Given the description of an element on the screen output the (x, y) to click on. 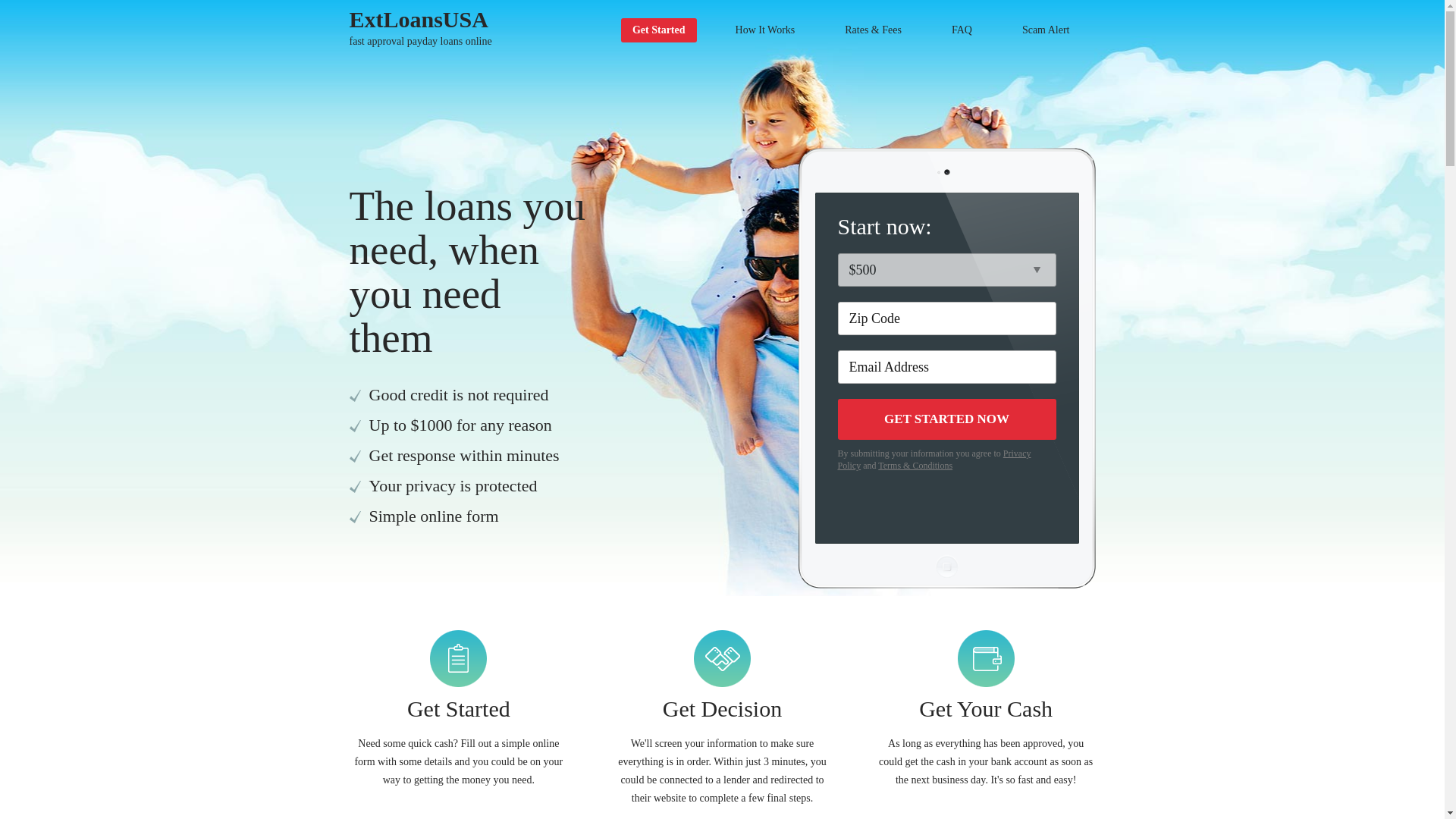
Scam Alert (1045, 30)
Get Started (659, 30)
Privacy Policy (933, 458)
GET STARTED NOW (420, 27)
FAQ (946, 418)
How It Works (962, 30)
